Given the description of an element on the screen output the (x, y) to click on. 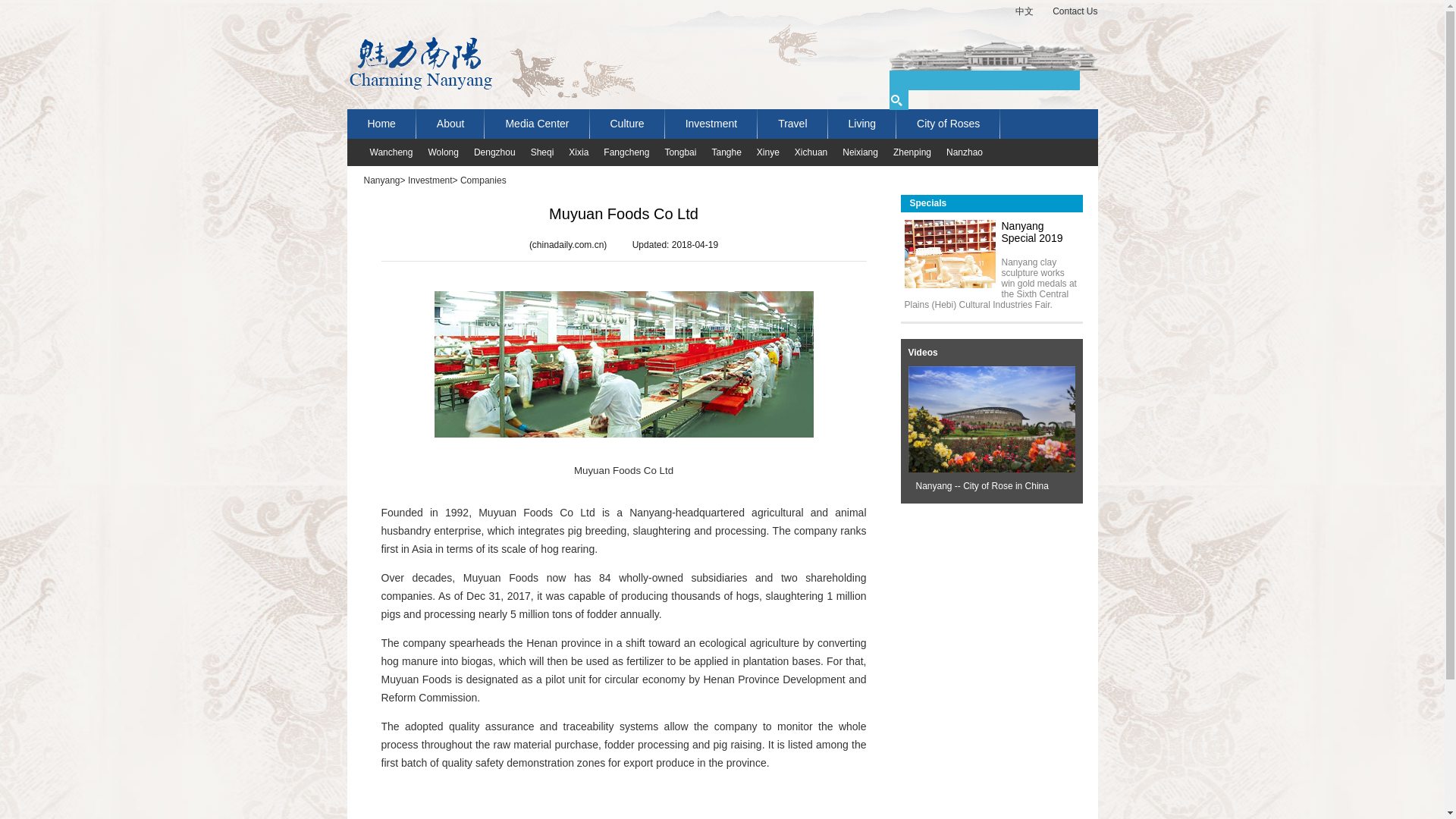
Fangcheng (618, 152)
Travel (792, 123)
Investment (711, 123)
Xixia (570, 152)
Media Center (536, 123)
Wolong (435, 152)
Home (381, 123)
Living (862, 123)
Sheqi (534, 152)
City of Roses (948, 123)
